Given the description of an element on the screen output the (x, y) to click on. 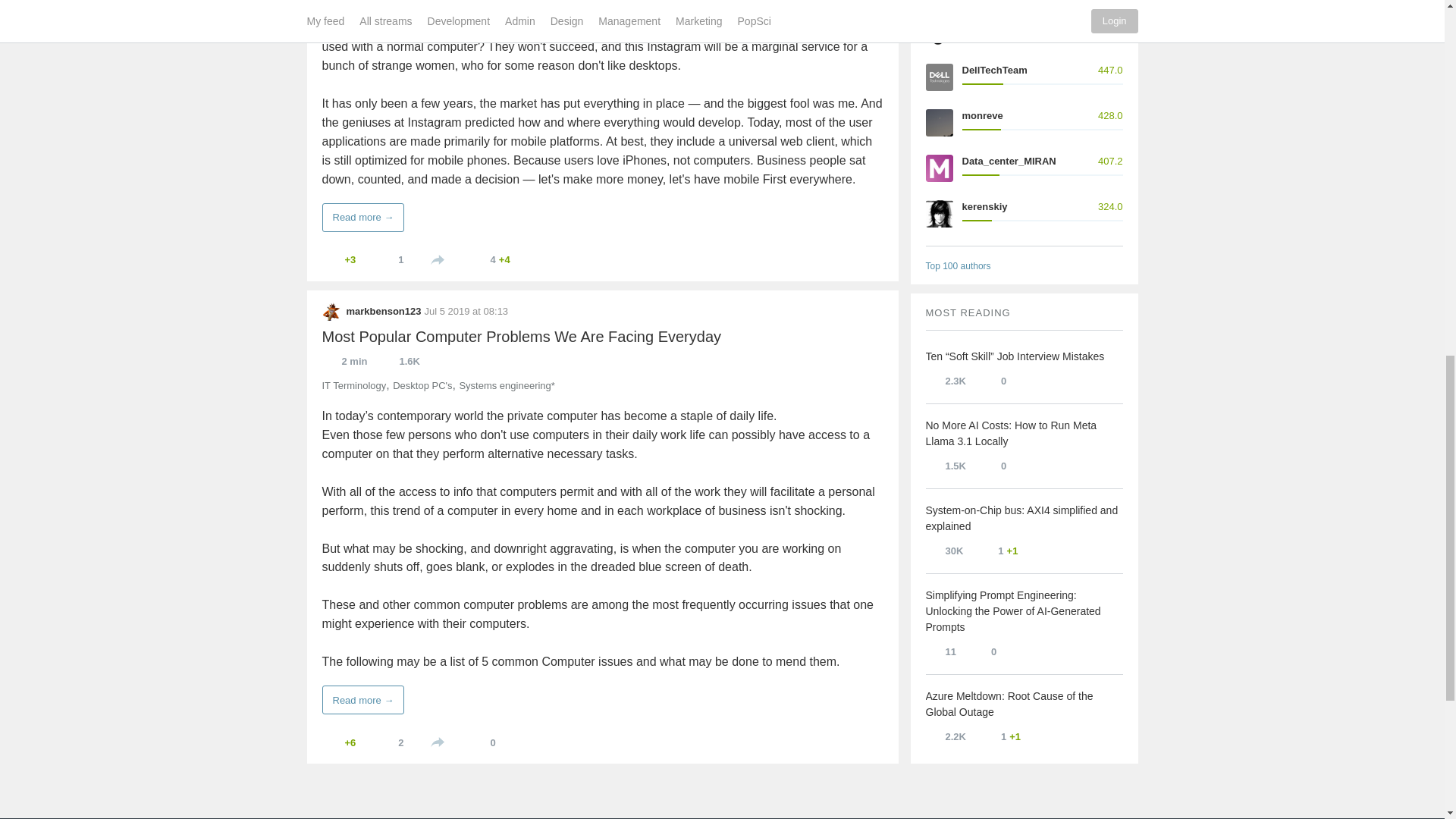
2019-07-05, 08:13 (466, 310)
Add to bookmarks (391, 742)
markbenson123 (330, 311)
Read comments (490, 259)
Read comments (993, 4)
Read new comments (505, 259)
Share (437, 742)
Share (437, 259)
Read comments (483, 742)
Add to bookmarks (391, 259)
